Given the description of an element on the screen output the (x, y) to click on. 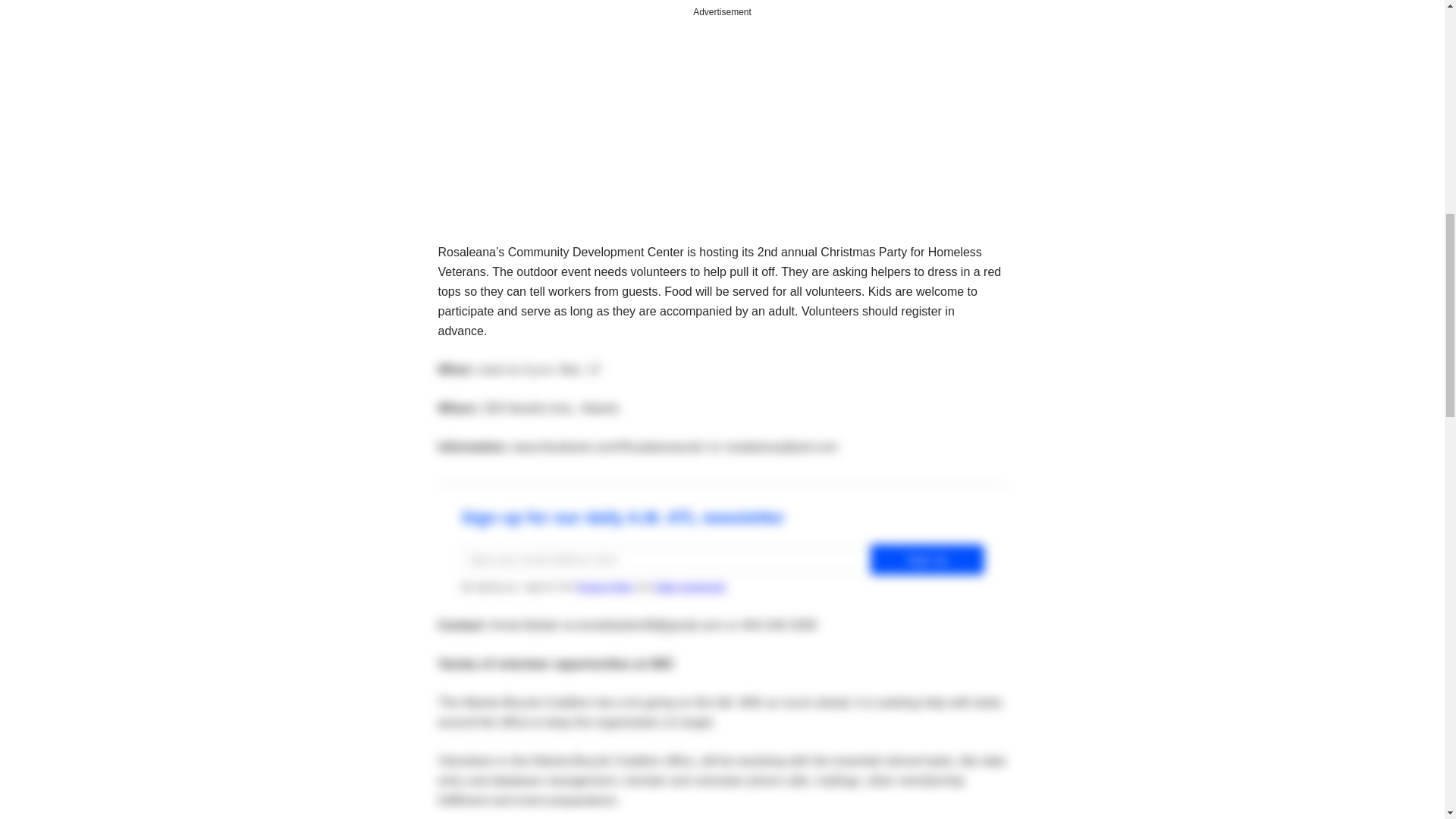
3rd party ad content (721, 117)
